Given the description of an element on the screen output the (x, y) to click on. 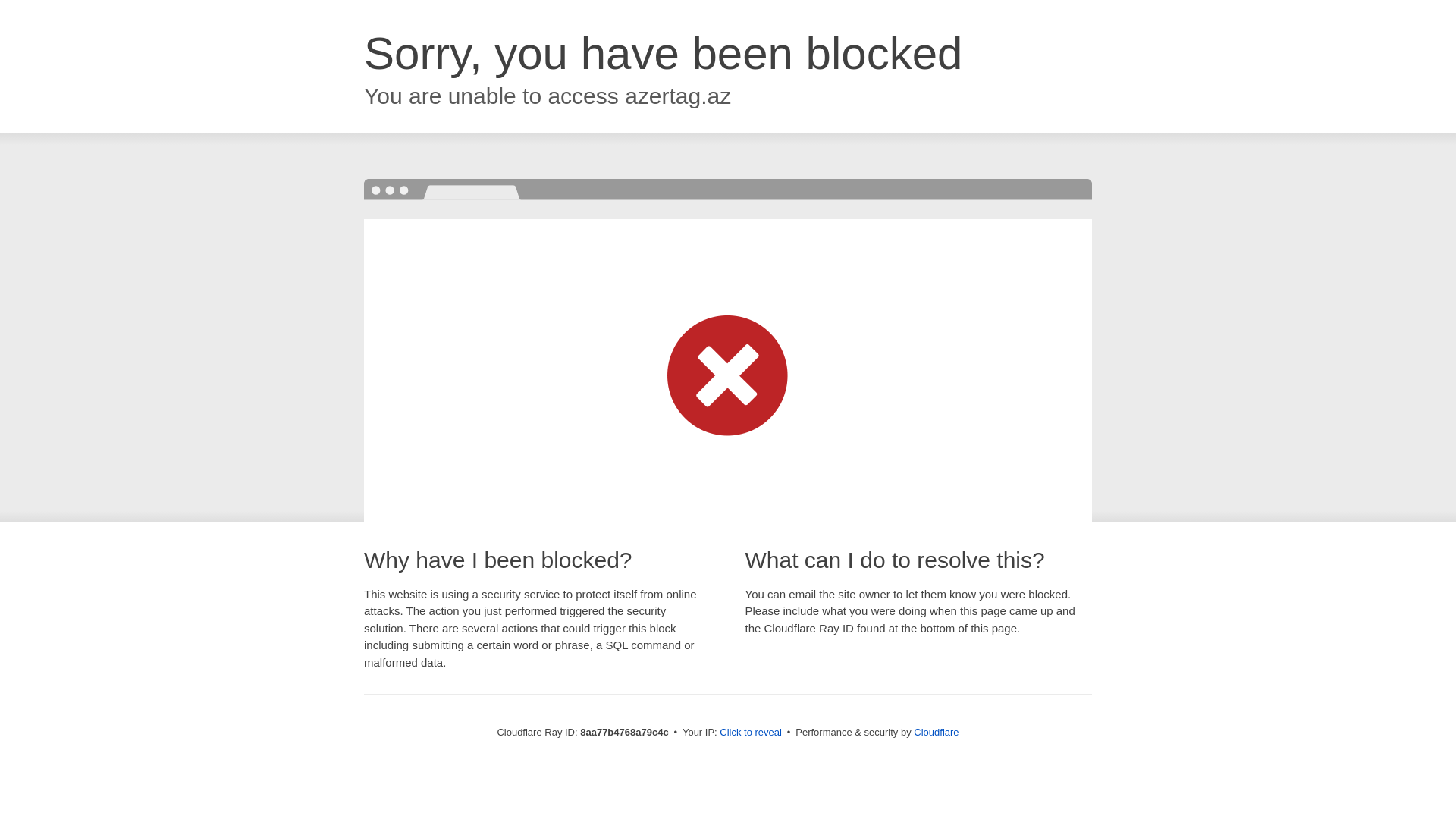
Click to reveal (750, 732)
Cloudflare (936, 731)
